Given the description of an element on the screen output the (x, y) to click on. 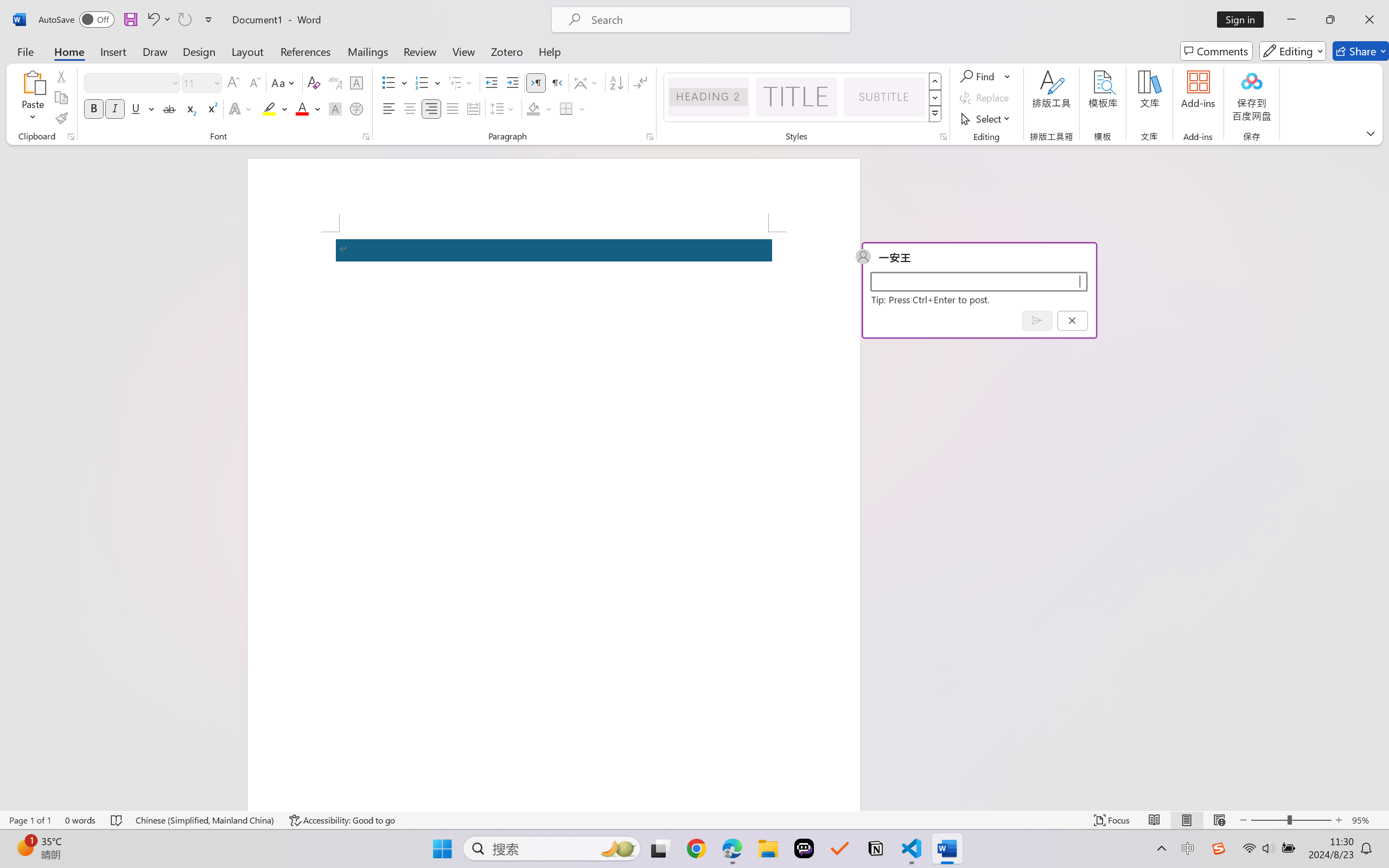
Title (796, 96)
Subtitle (883, 96)
